Given the description of an element on the screen output the (x, y) to click on. 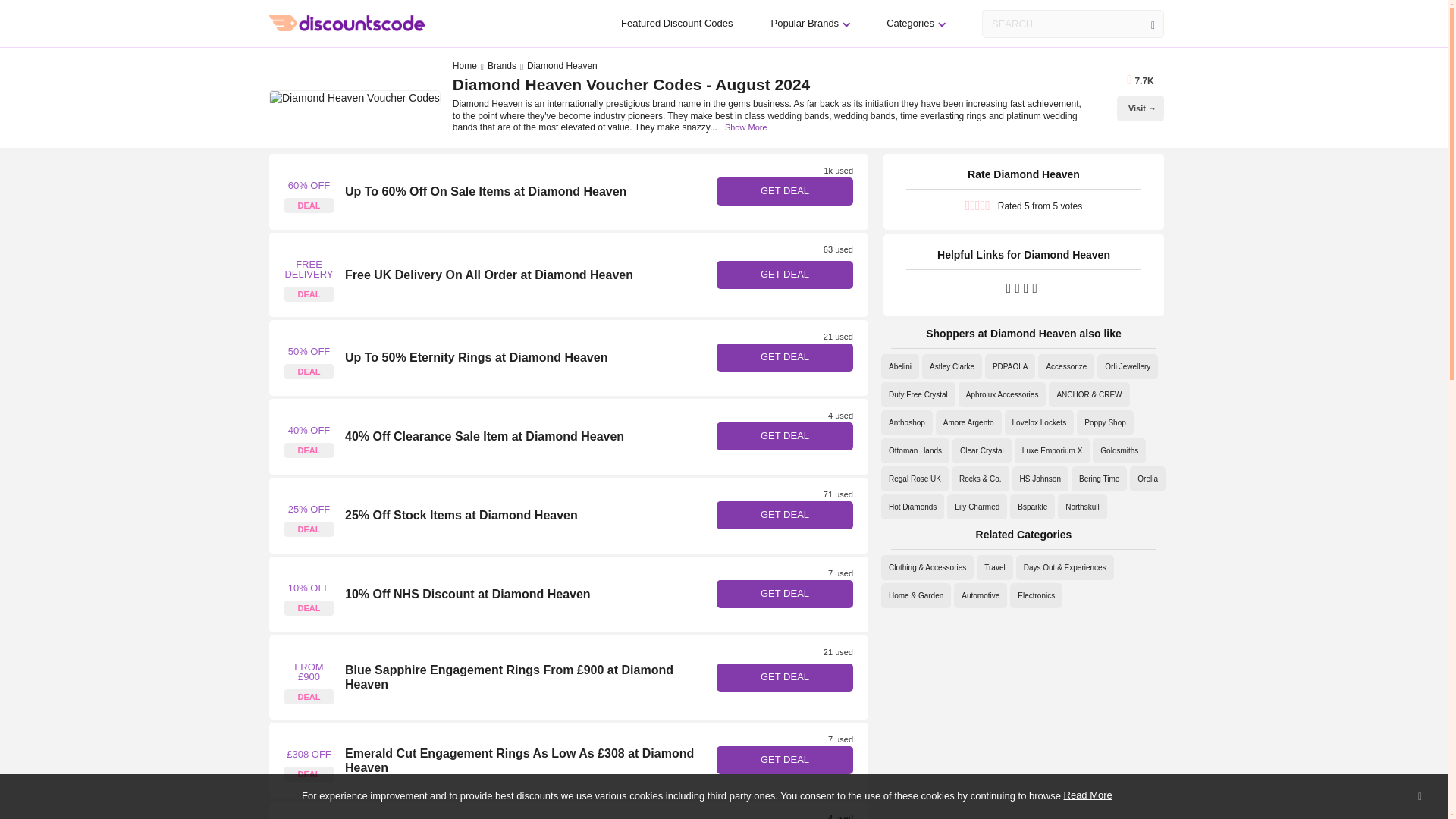
Get Deal (784, 593)
Diamond Heaven (308, 594)
Get Deal (784, 677)
Diamond Heaven (308, 436)
Featured Discount Codes (676, 23)
Get Deal (784, 275)
Diamond Heaven (308, 357)
Get Deal (784, 191)
Diamond Heaven (308, 191)
Diamond Heaven (308, 275)
